Given the description of an element on the screen output the (x, y) to click on. 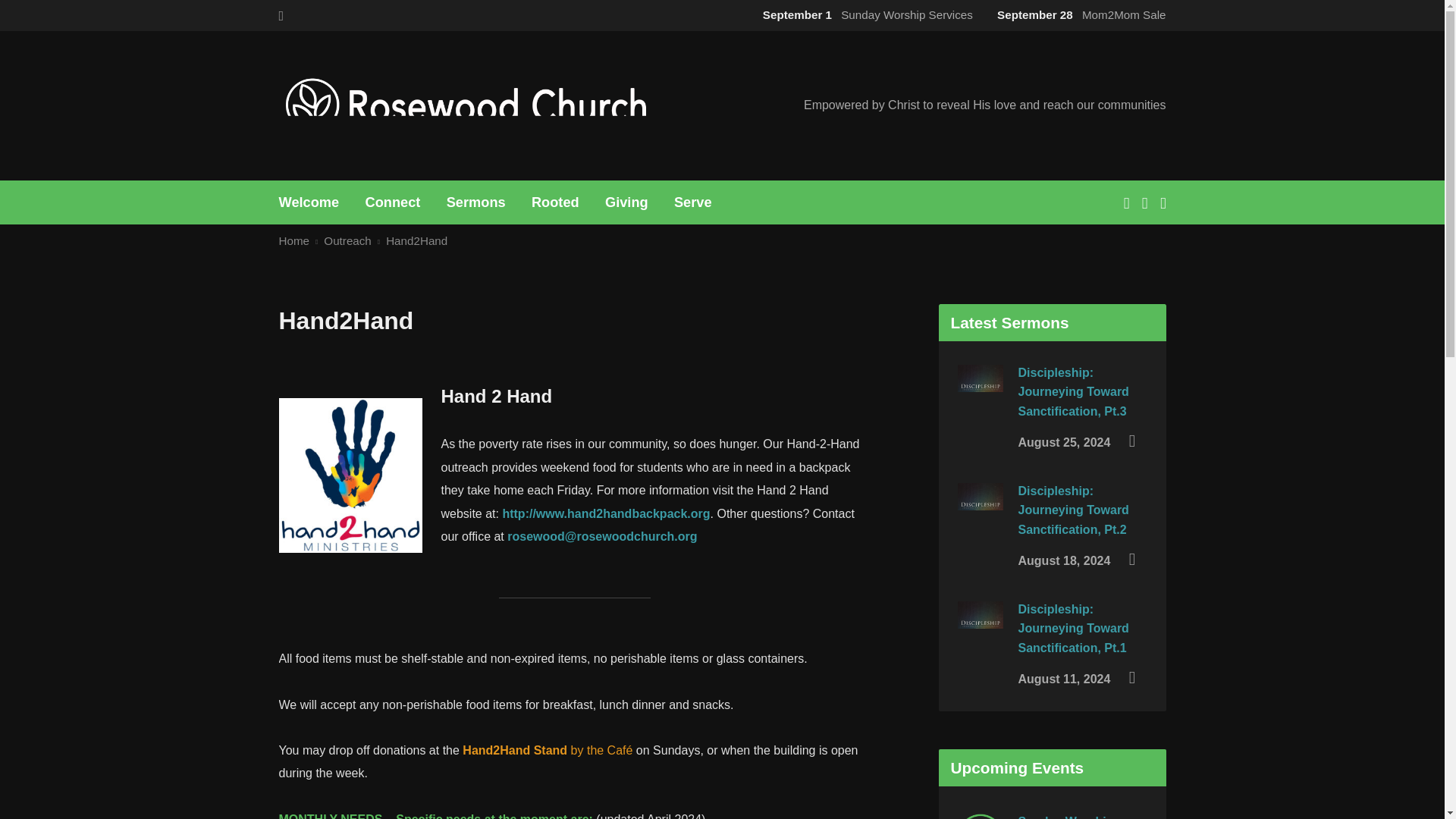
Discipleship: Journeying Toward Sanctification, Pt.2 (979, 517)
September 28 Mom2Mom Sale (1078, 14)
September 1 Sunday Worship Services (864, 14)
Discipleship: Journeying Toward Sanctification, Pt.3 (1072, 391)
Sunday Worship Services (864, 14)
Discipleship: Journeying Toward Sanctification, Pt.1 (979, 635)
Discipleship: Journeying Toward Sanctification, Pt.3 (979, 399)
Discipleship: Journeying Toward Sanctification, Pt.2 (1072, 510)
Welcome (309, 202)
Mom2Mom Sale (1078, 14)
